Given the description of an element on the screen output the (x, y) to click on. 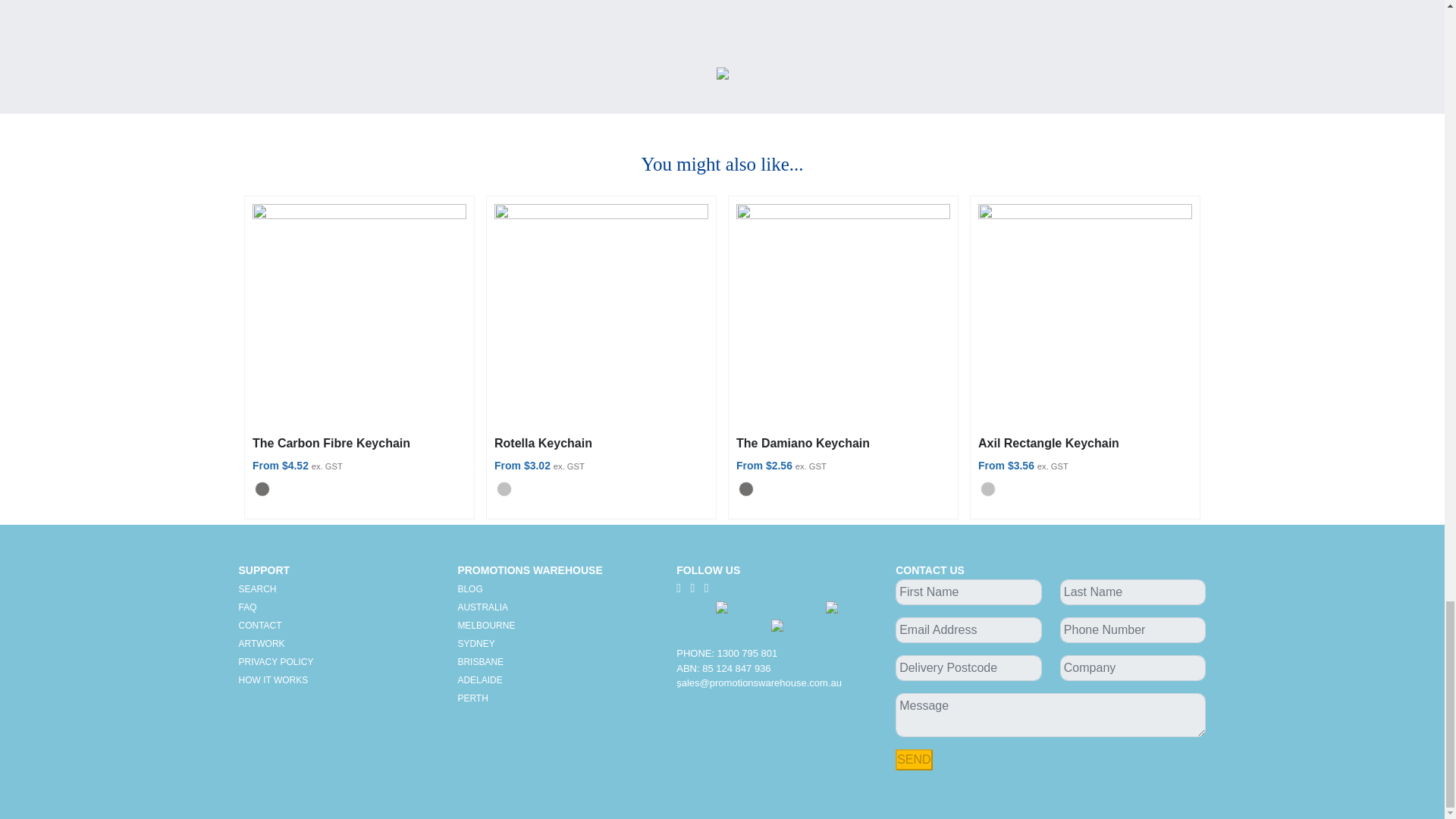
Silver (504, 488)
SEND (913, 759)
Sliver (987, 488)
